Given the description of an element on the screen output the (x, y) to click on. 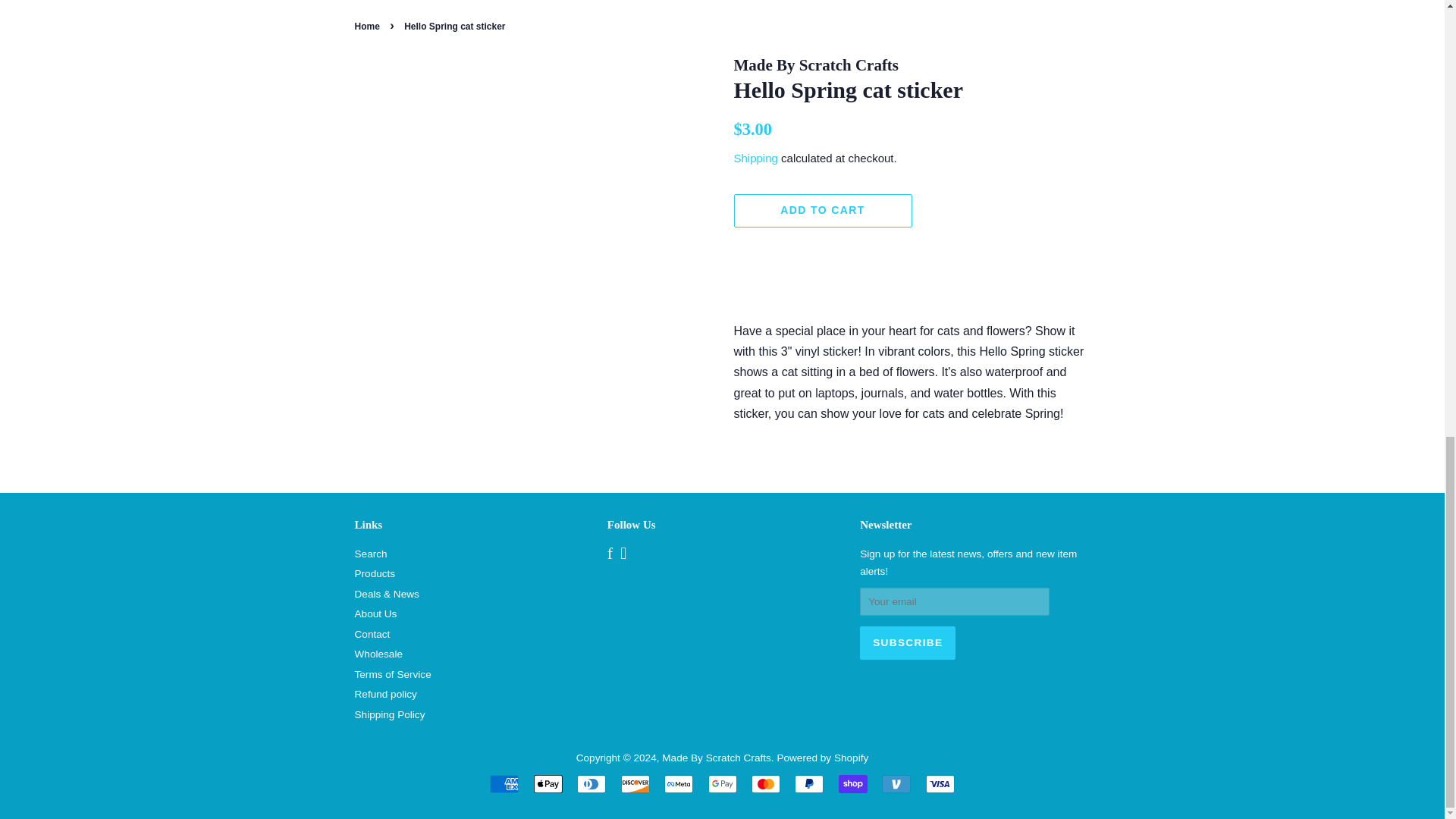
Visa (940, 783)
Shop Pay (852, 783)
PayPal (809, 783)
Discover (635, 783)
Back to the frontpage (369, 26)
Search (371, 553)
Google Pay (721, 783)
Home (369, 26)
Venmo (896, 783)
Subscribe (907, 643)
